Given the description of an element on the screen output the (x, y) to click on. 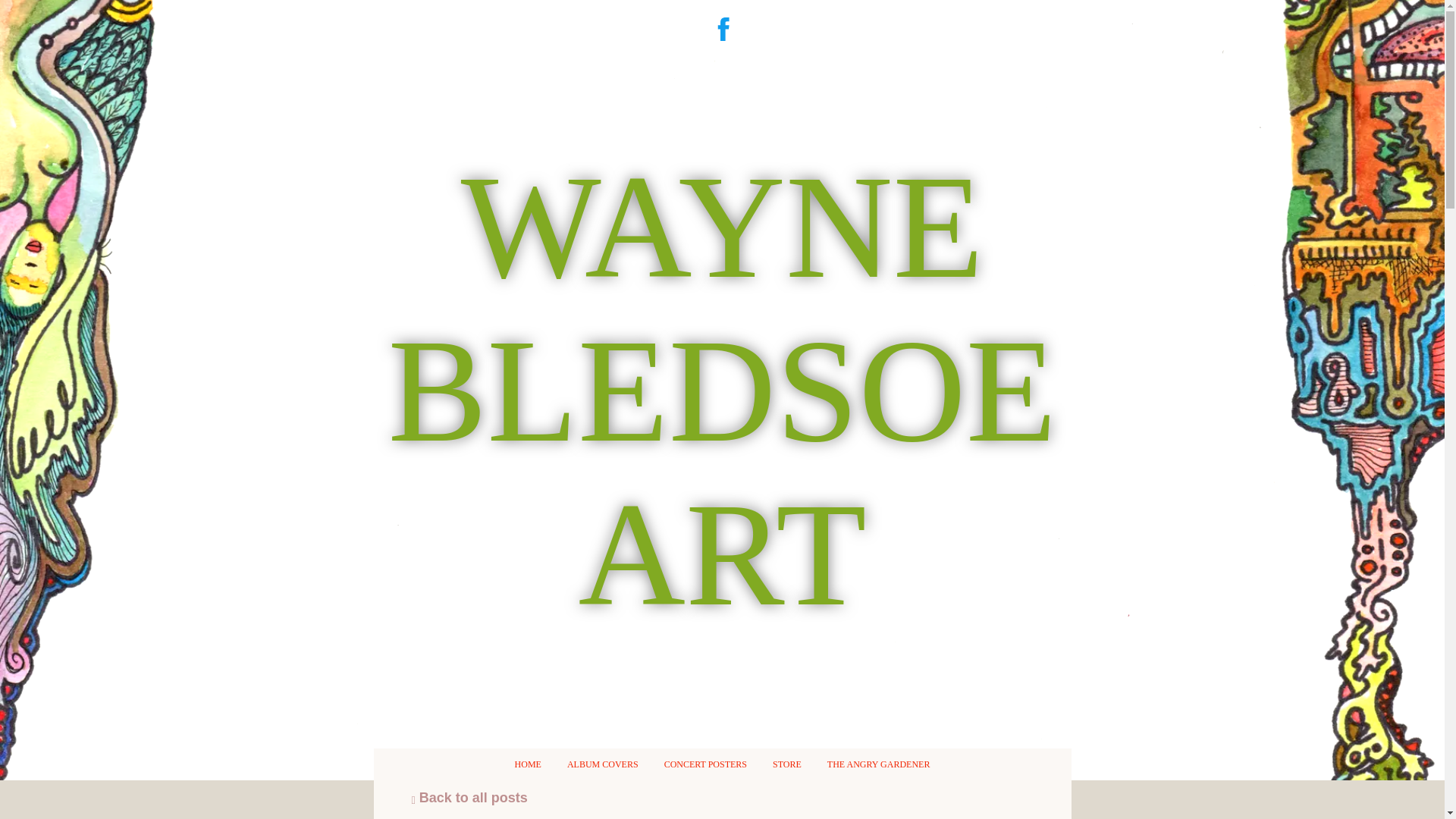
CONCERT POSTERS (705, 764)
ALBUM COVERS (602, 764)
Back to all posts (468, 797)
THE ANGRY GARDENER (878, 764)
HOME (527, 764)
WAYNE BLEDSOE ART (721, 596)
STORE (786, 764)
